Given the description of an element on the screen output the (x, y) to click on. 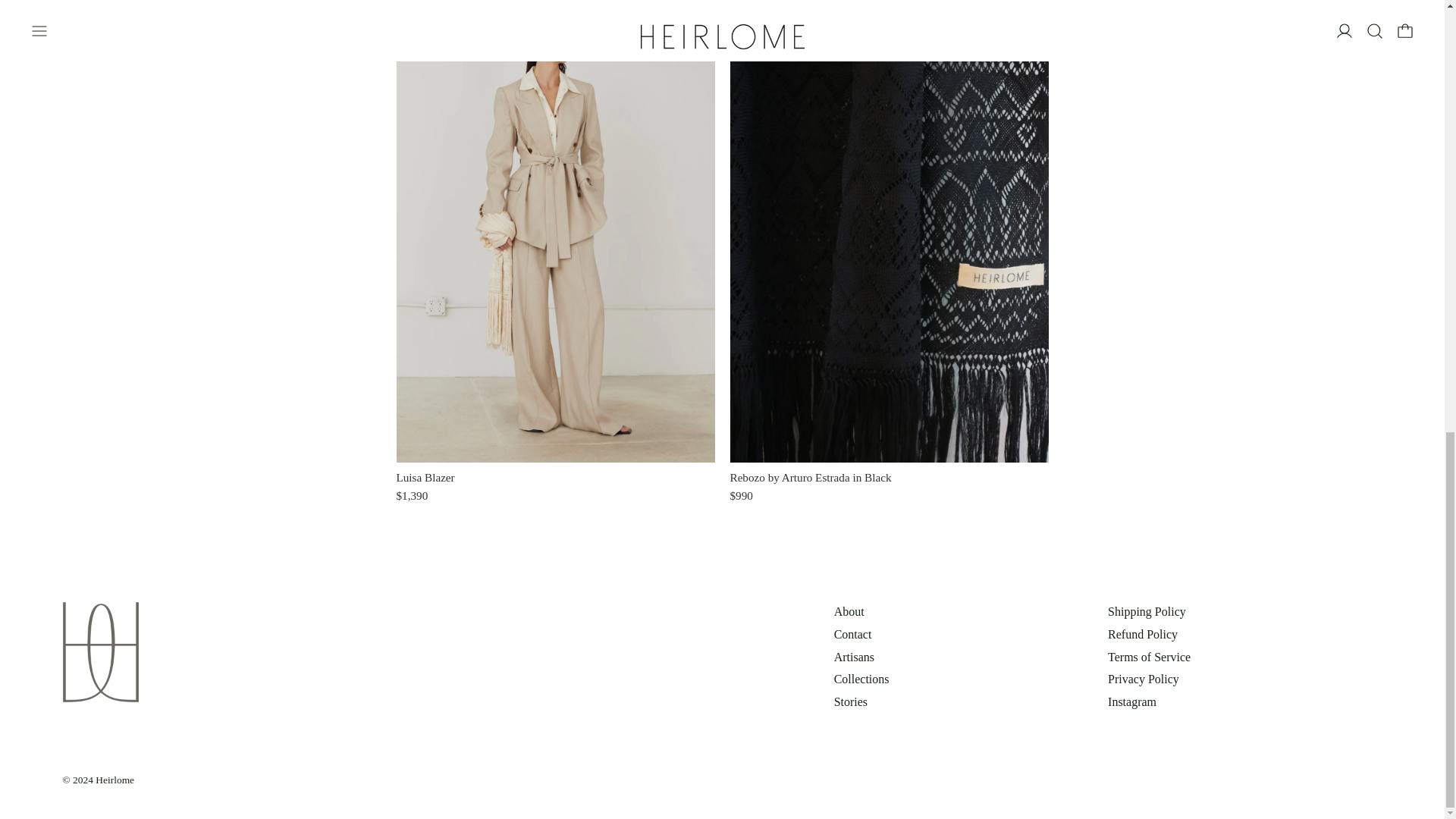
Artisans (854, 656)
About (849, 611)
Shipping Policy (1147, 611)
Contact (853, 634)
Stories (850, 701)
Collections (861, 678)
